Given the description of an element on the screen output the (x, y) to click on. 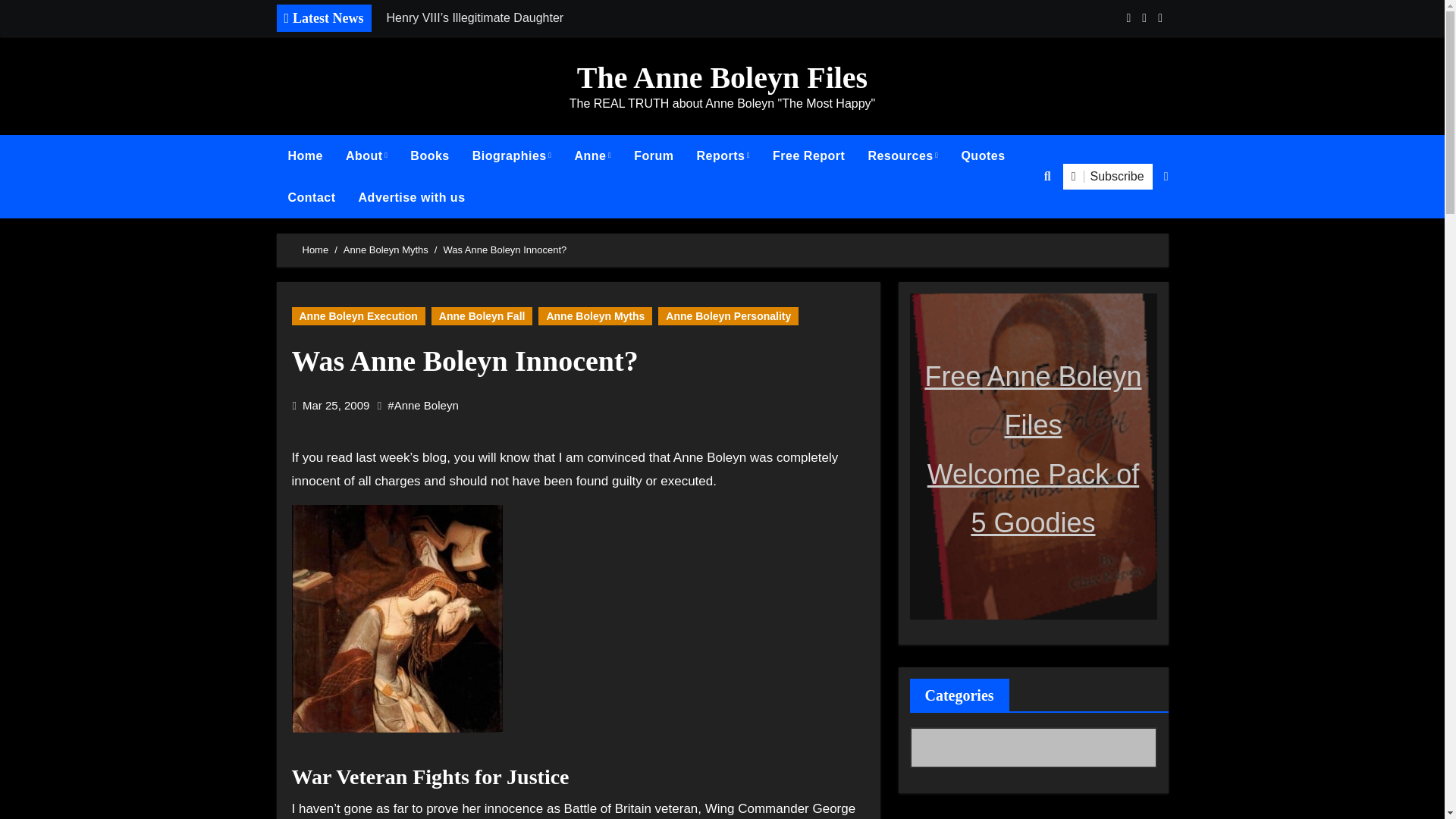
Home (304, 155)
Books (429, 155)
The Anne Boleyn Files (721, 77)
Books (429, 155)
Home (304, 155)
Biographies (512, 155)
About (366, 155)
Biographies (512, 155)
About (366, 155)
